Given the description of an element on the screen output the (x, y) to click on. 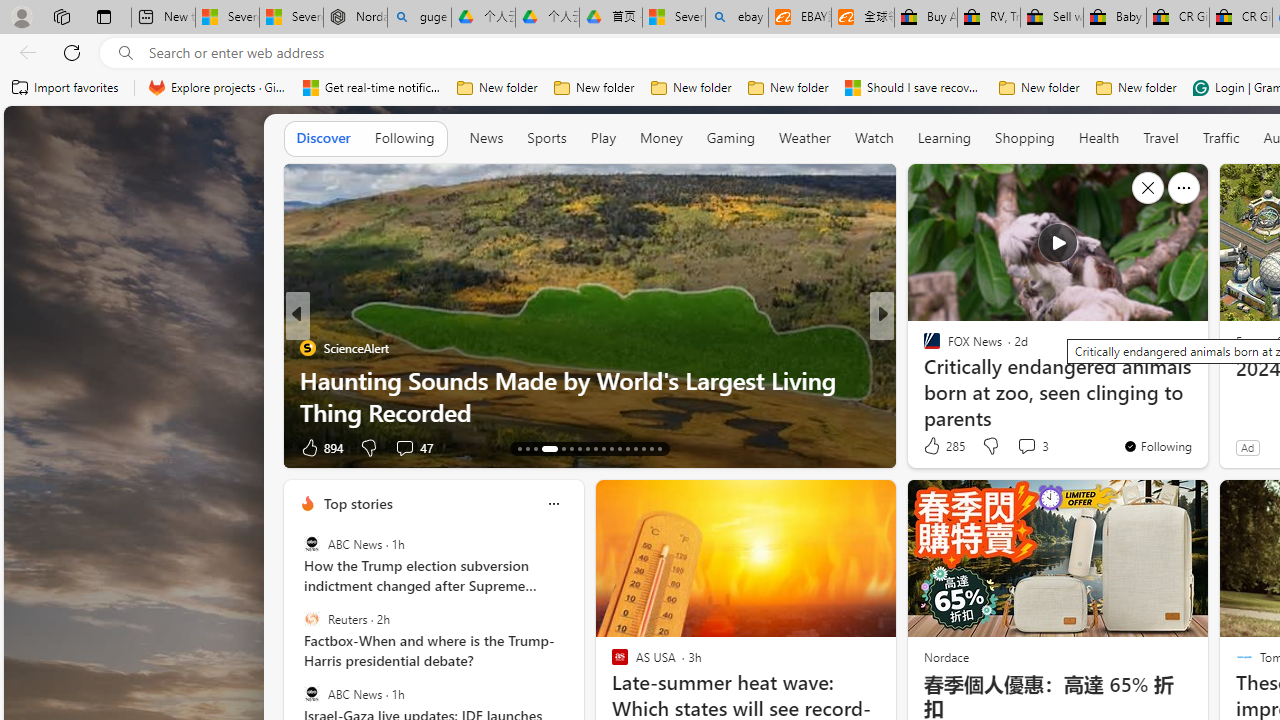
Travel (1160, 138)
ABC News (311, 693)
106 Like (936, 447)
Traffic (1220, 138)
Following (404, 137)
ebay - Search (736, 17)
The Cool Down (923, 347)
1k Like (933, 447)
59 Like (934, 447)
42 Like (934, 447)
Reuters (311, 619)
Ad Choice (264, 448)
Watch (874, 137)
